Given the description of an element on the screen output the (x, y) to click on. 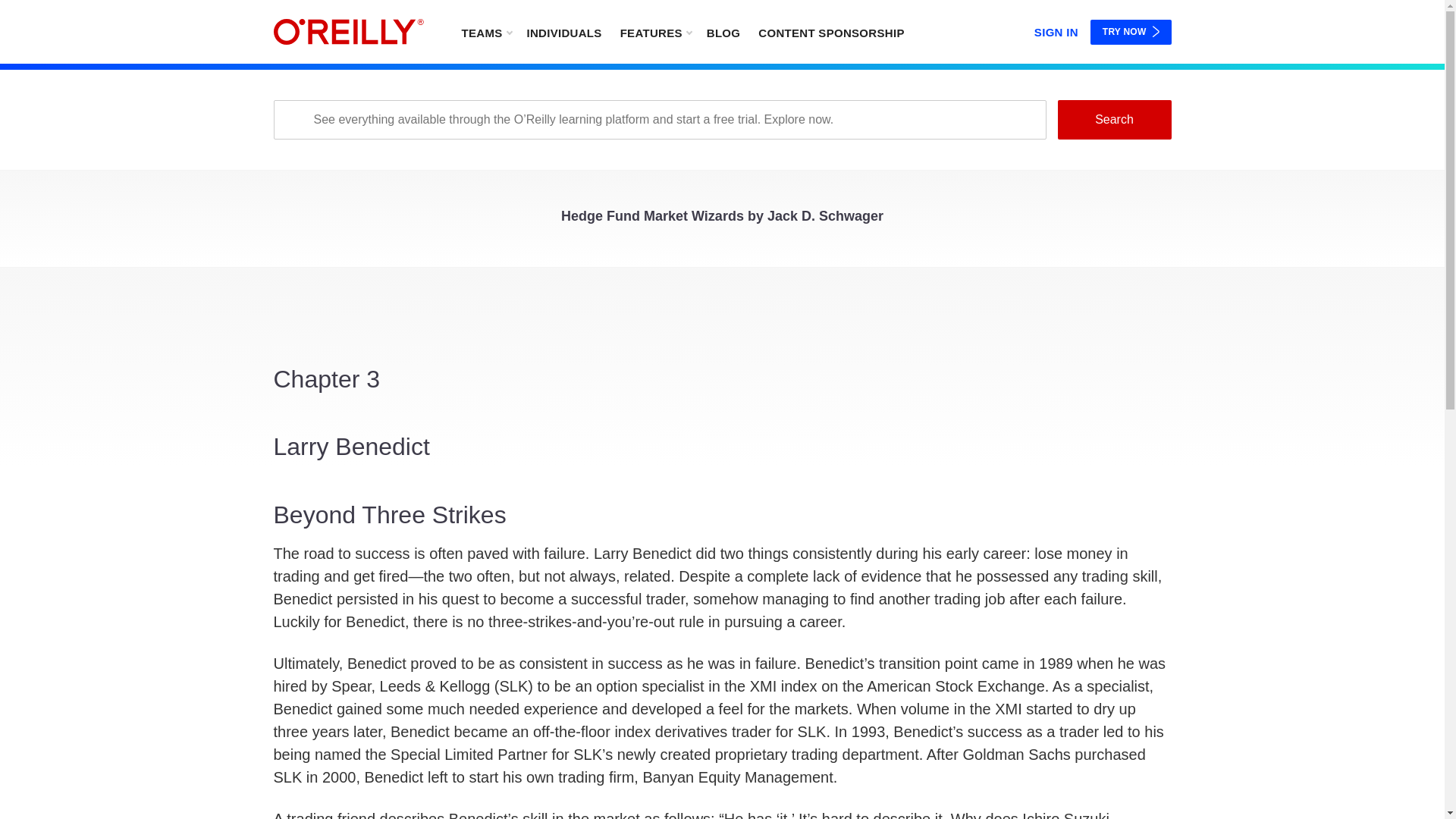
TEAMS (486, 31)
Search (1113, 119)
INDIVIDUALS (563, 31)
TRY NOW (1131, 32)
CONTENT SPONSORSHIP (831, 31)
Hedge Fund Market Wizards by Jack D. Schwager (721, 219)
BLOG (723, 31)
Search (1113, 119)
FEATURES (655, 31)
Search (1113, 119)
